Given the description of an element on the screen output the (x, y) to click on. 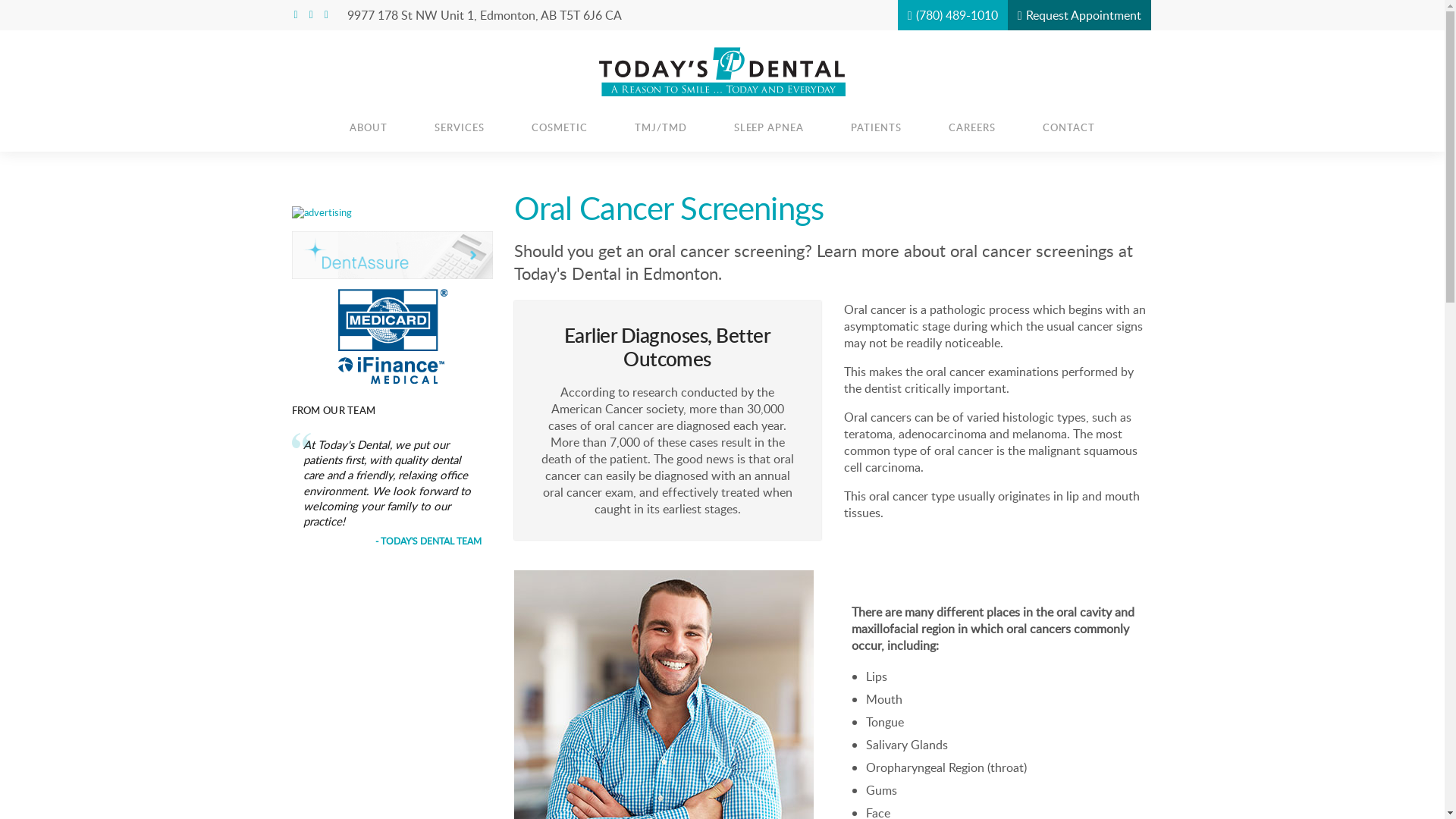
SERVICES Element type: text (459, 127)
(780) 489-1010 Element type: text (952, 15)
Healthsmart Element type: hover (392, 255)
SLEEP APNEA Element type: text (769, 127)
ABOUT Element type: text (368, 127)
Medicard iFinance Medical Element type: hover (392, 335)
PATIENTS Element type: text (876, 127)
TMJ/TMD Element type: text (660, 127)
- TODAY'S DENTAL TEAM Element type: text (428, 540)
CONTACT Element type: text (1068, 127)
CAREERS Element type: text (972, 127)
COSMETIC Element type: text (559, 127)
Request Appointment Element type: text (1079, 15)
